Given the description of an element on the screen output the (x, y) to click on. 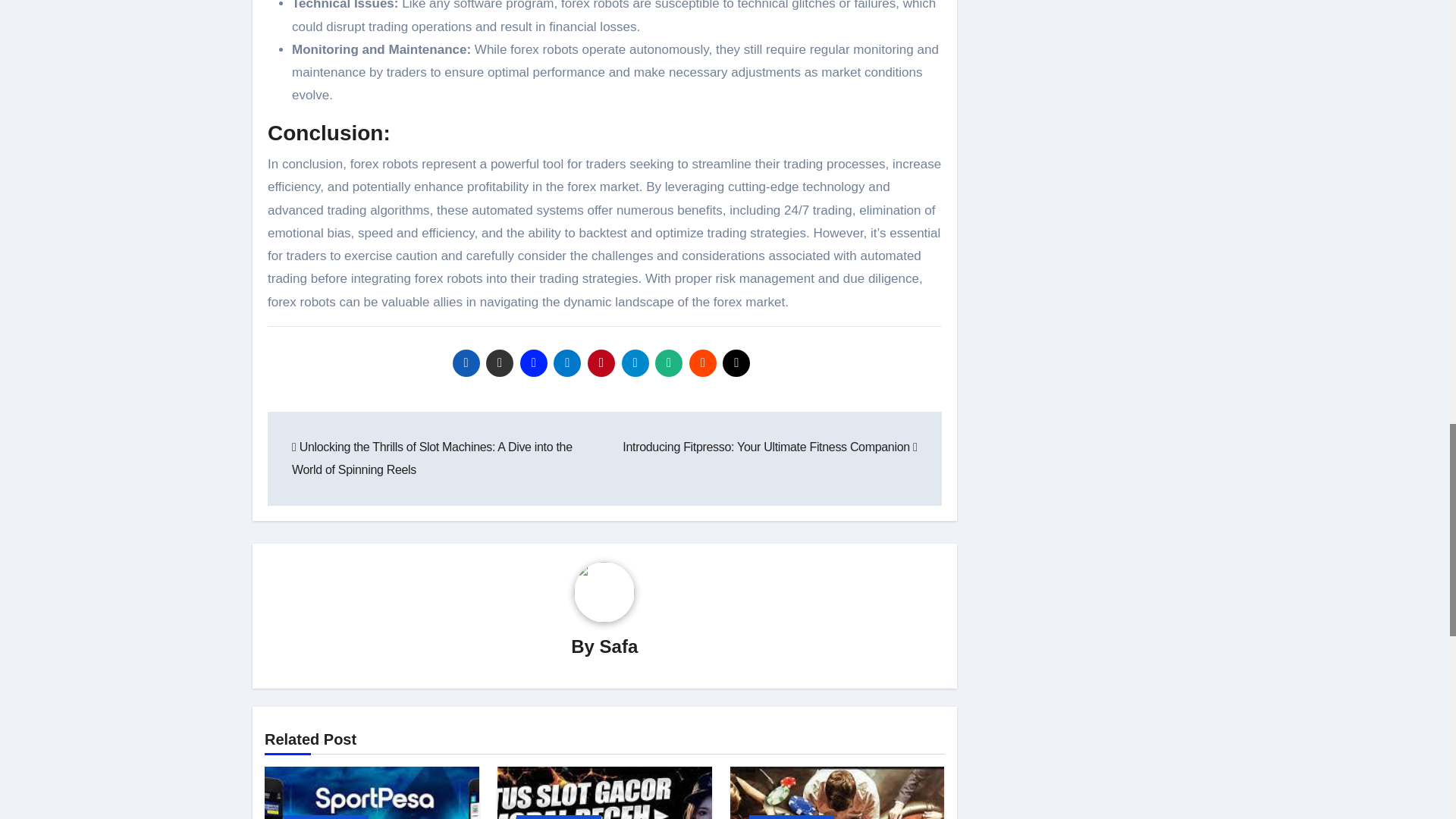
Uncategorized (325, 816)
Introducing Fitpresso: Your Ultimate Fitness Companion (770, 446)
Safa (619, 646)
